Given the description of an element on the screen output the (x, y) to click on. 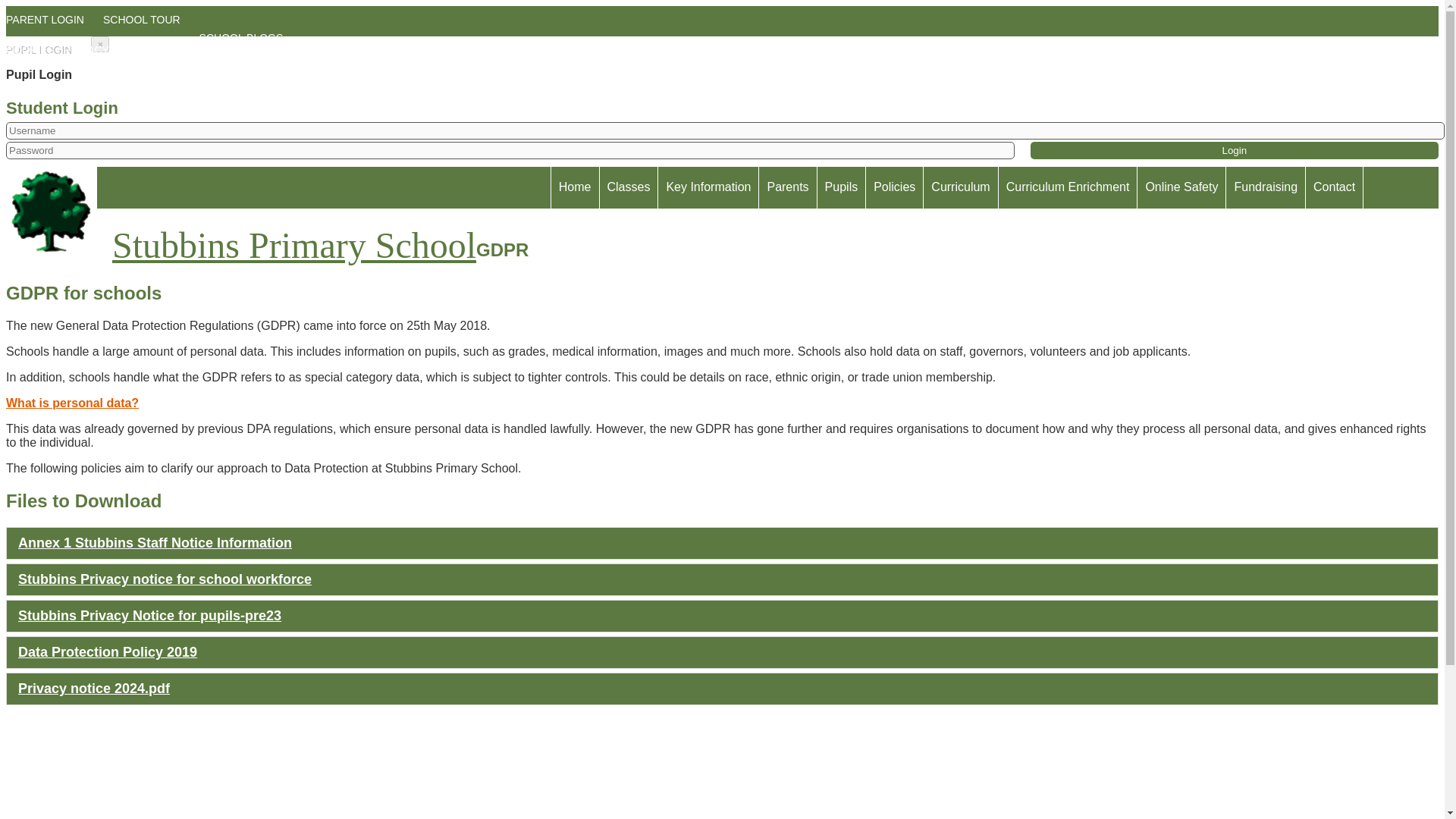
Stubbins Primary School (240, 212)
PARENT LOGIN (48, 28)
PUPIL LOGIN (42, 49)
Home (574, 187)
SCHOOL BLOGS (245, 37)
Classes (628, 187)
SCHOOL TOUR (145, 28)
Key Information (708, 187)
